Given the description of an element on the screen output the (x, y) to click on. 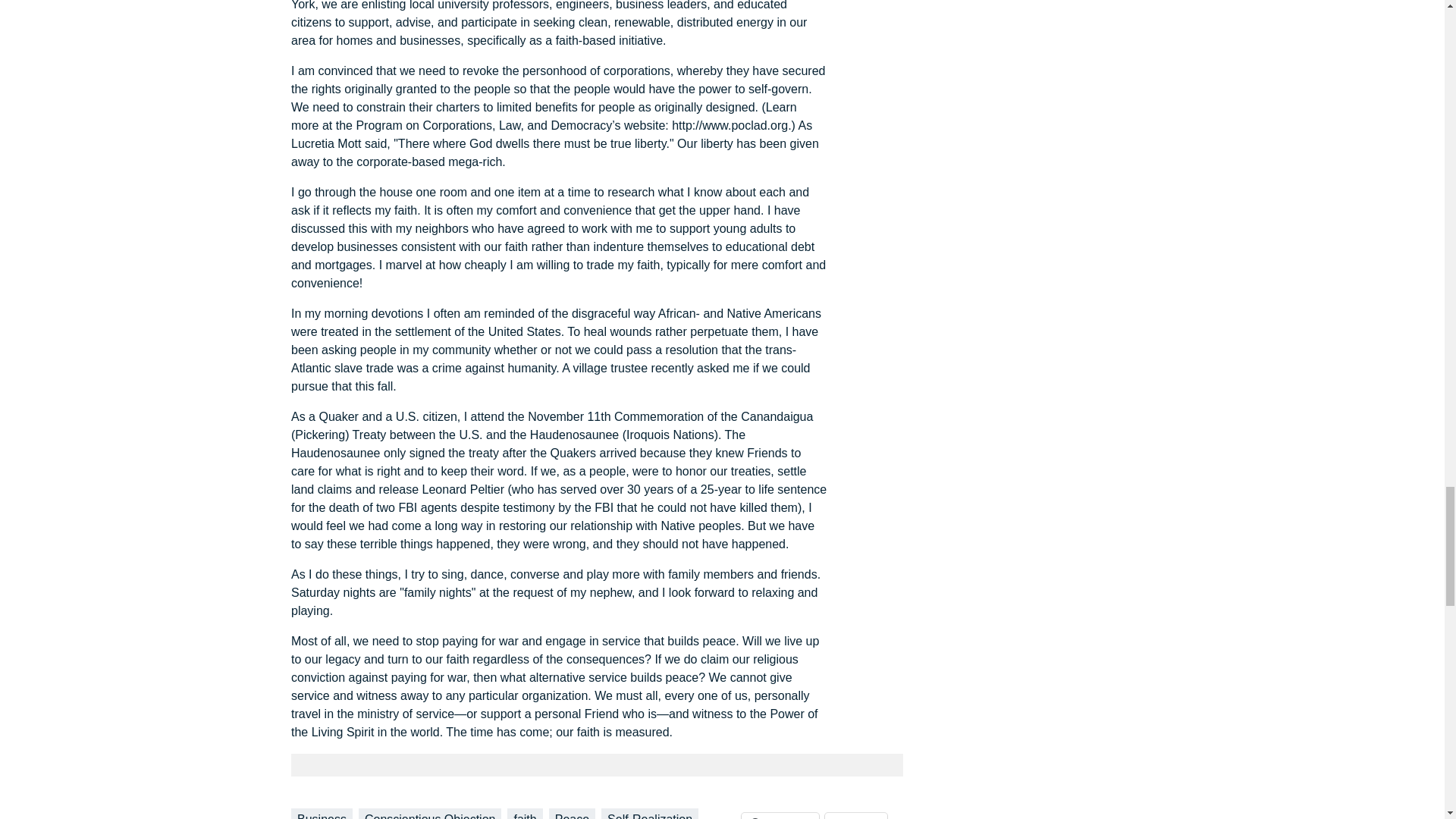
Click to share on Twitter (855, 816)
Conscientious Objection (430, 813)
Facebook (779, 816)
faith (523, 813)
Twitter (855, 816)
Self-Realization (649, 813)
Peace (571, 813)
Business (321, 813)
Click to share on Facebook (779, 816)
